Given the description of an element on the screen output the (x, y) to click on. 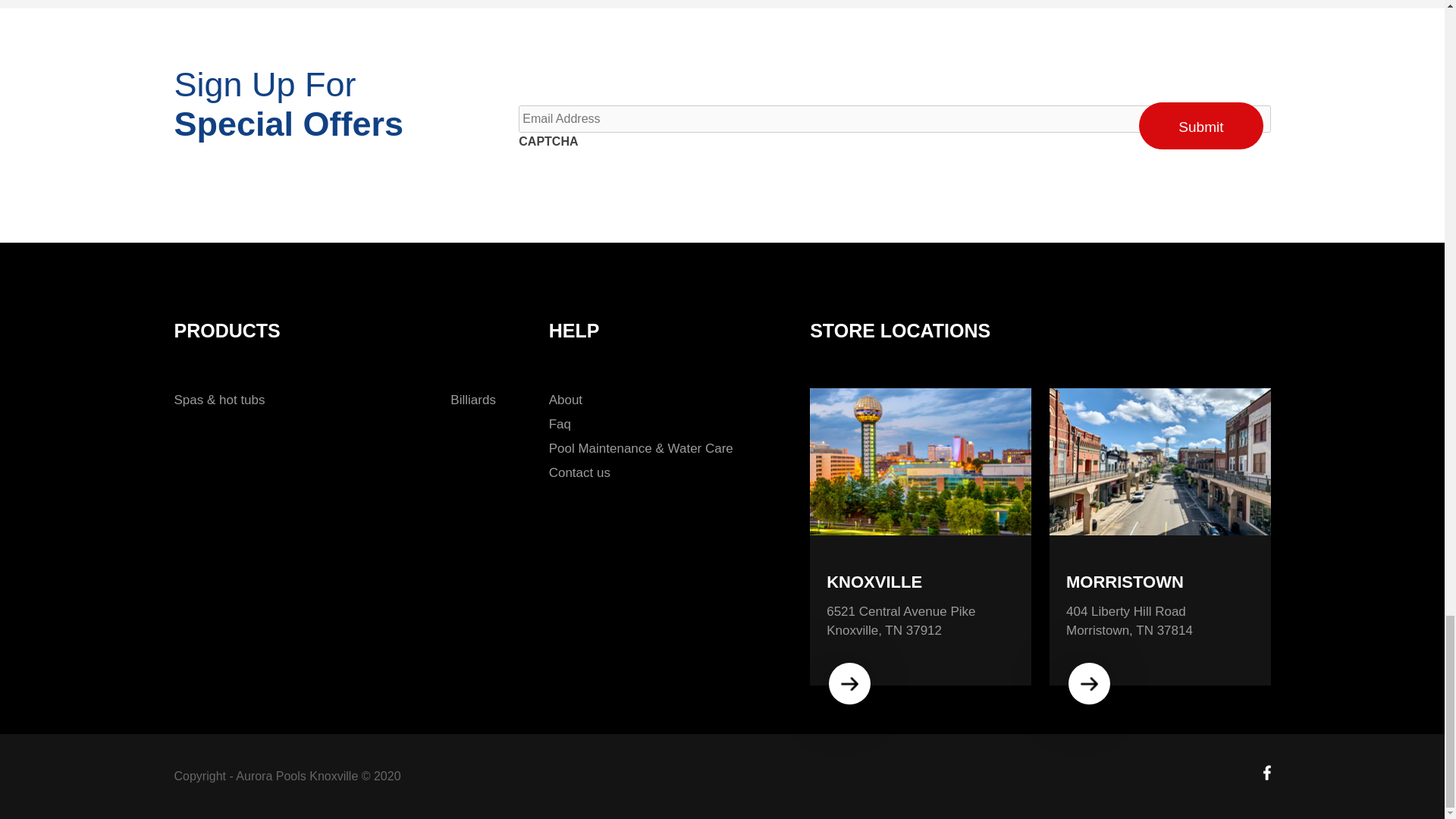
Submit (1200, 125)
Submit (1200, 125)
